Given the description of an element on the screen output the (x, y) to click on. 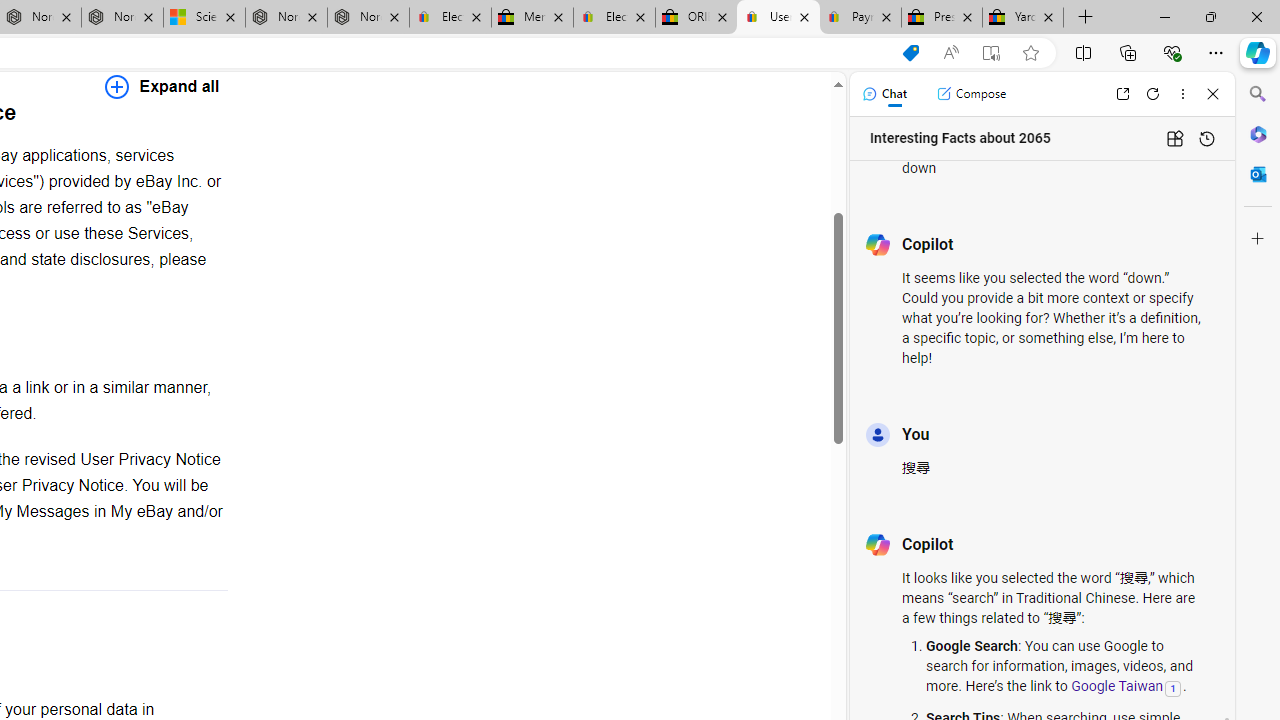
Expand all (162, 86)
Press Room - eBay Inc. (941, 17)
Compose (971, 93)
User Privacy Notice | eBay (778, 17)
